Given the description of an element on the screen output the (x, y) to click on. 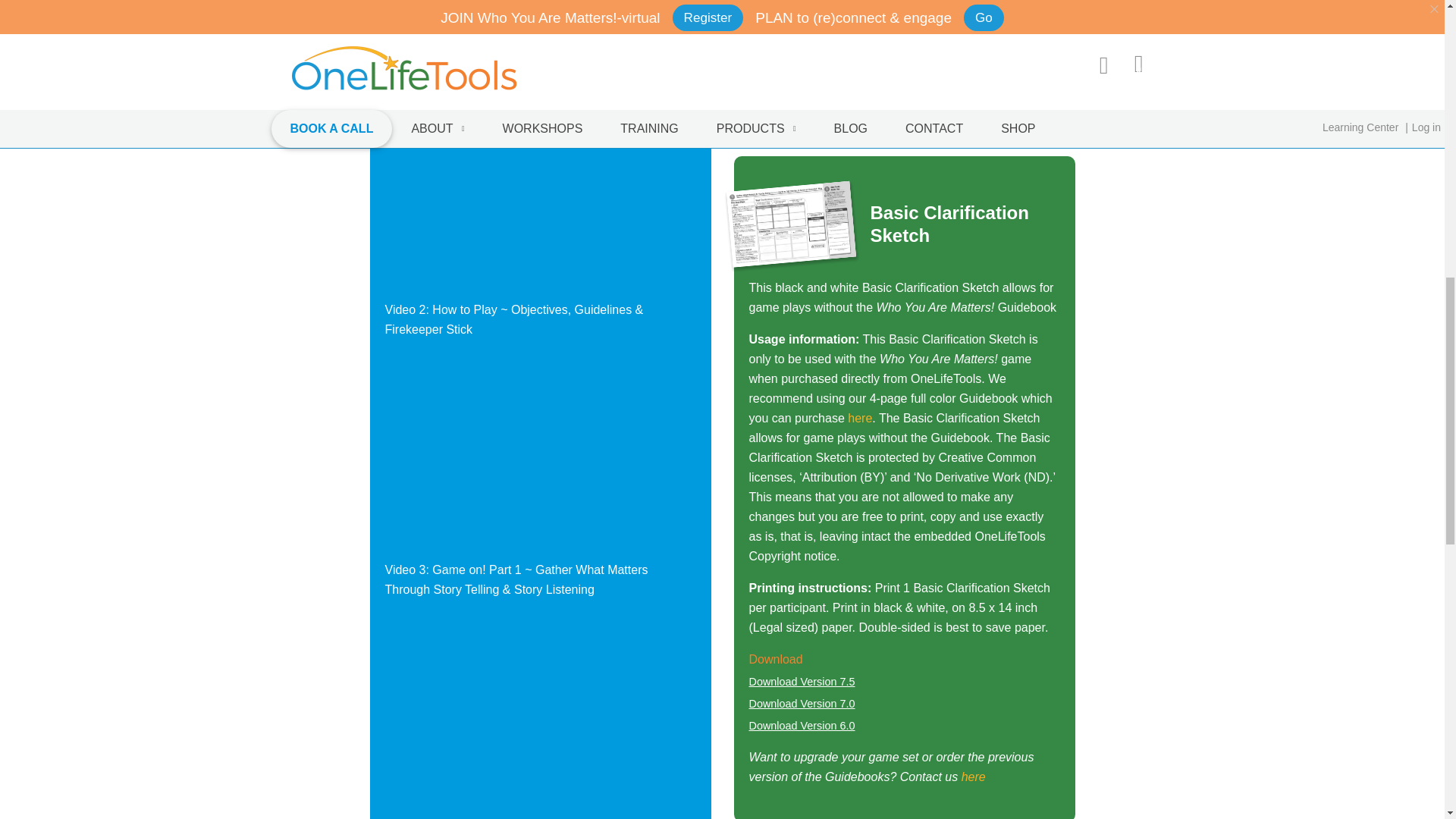
Facilitating Larger Groups Slides (801, 90)
Quick-Hints (801, 6)
